Given the description of an element on the screen output the (x, y) to click on. 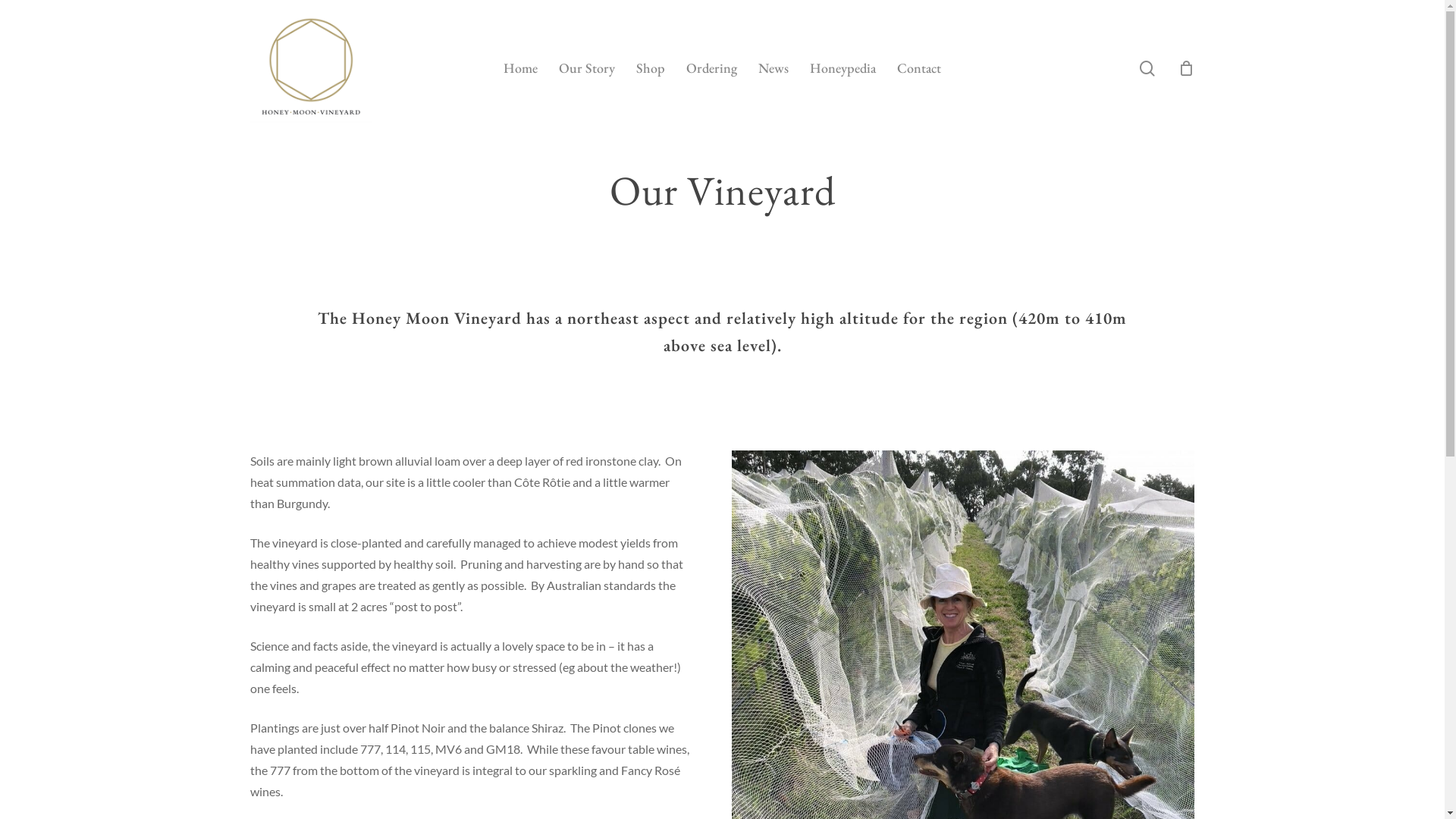
Shop Element type: text (650, 68)
search Element type: text (1147, 68)
Contact Element type: text (919, 68)
Home Element type: text (520, 68)
Ordering Element type: text (711, 68)
Our Story Element type: text (586, 68)
News Element type: text (773, 68)
Honeypedia Element type: text (842, 68)
